Given the description of an element on the screen output the (x, y) to click on. 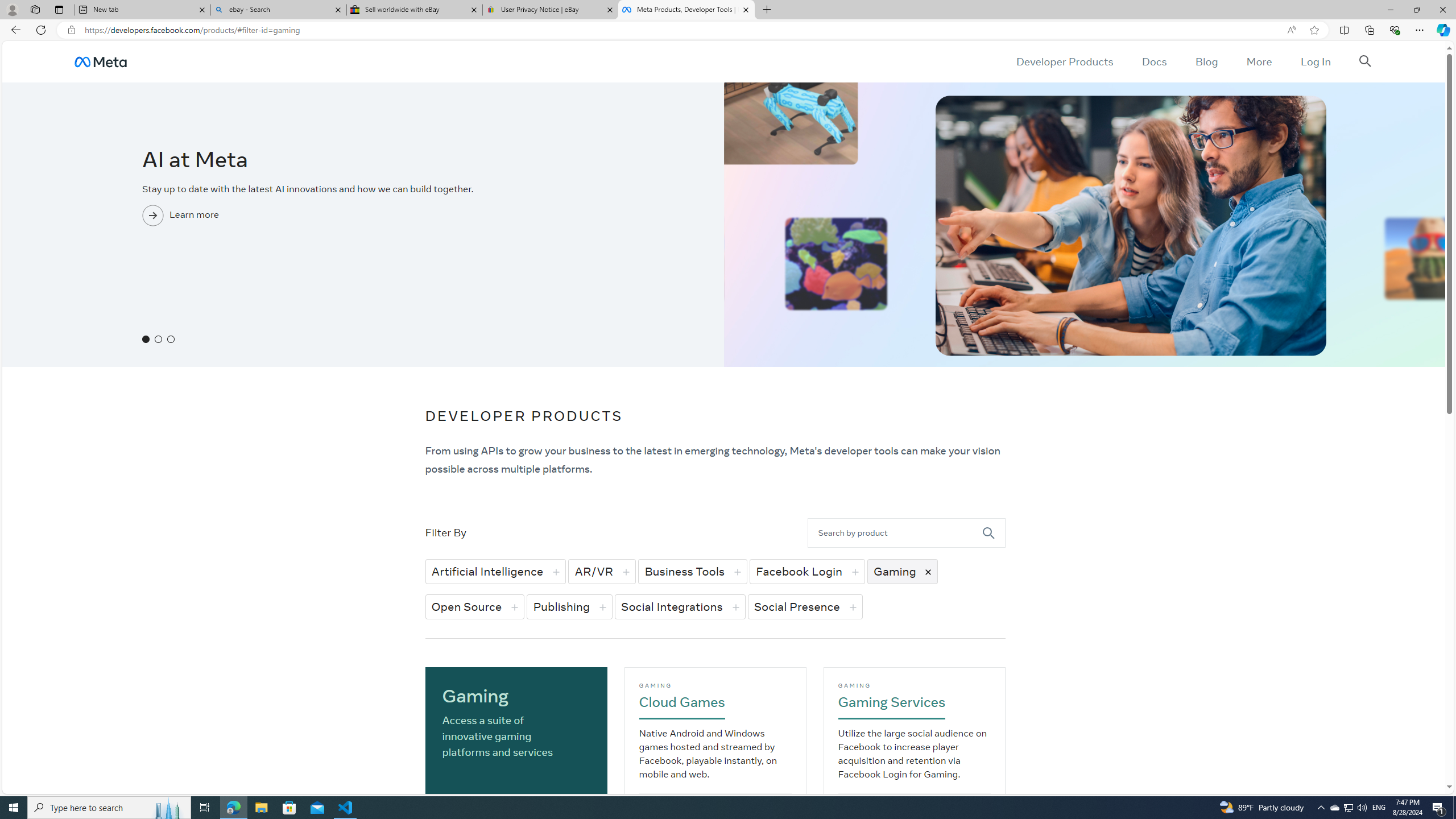
Show slide 1 (145, 339)
User Privacy Notice | eBay (550, 9)
Developer Products (1064, 61)
AutomationID: u_0_3h_wf (100, 61)
Show slide 3 (170, 339)
Meta Products, Developer Tools | Meta for Developers (685, 9)
Open Source (475, 606)
More (1259, 61)
Log In (1315, 61)
